Given the description of an element on the screen output the (x, y) to click on. 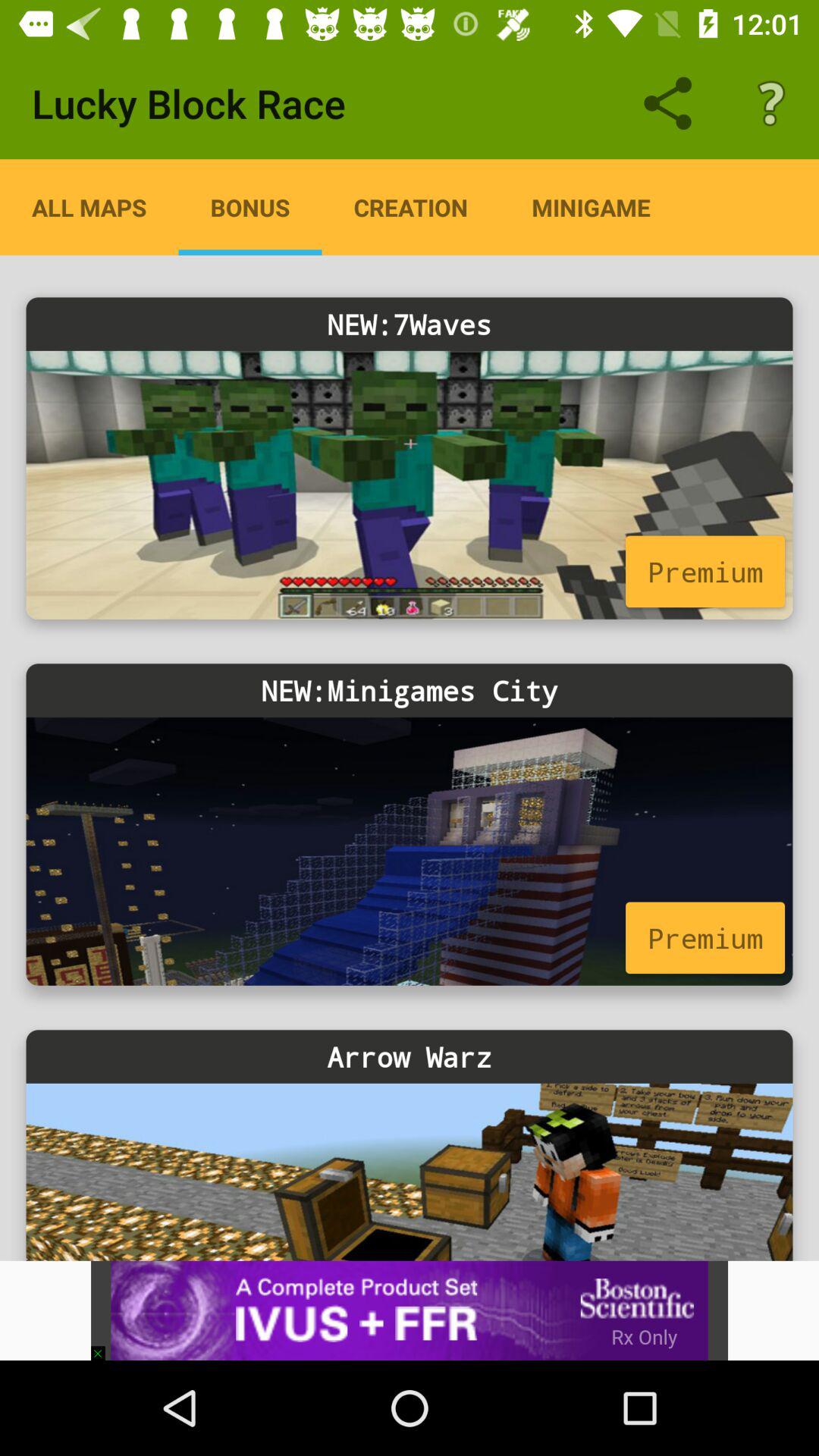
opens the video selection pictured (409, 484)
